Given the description of an element on the screen output the (x, y) to click on. 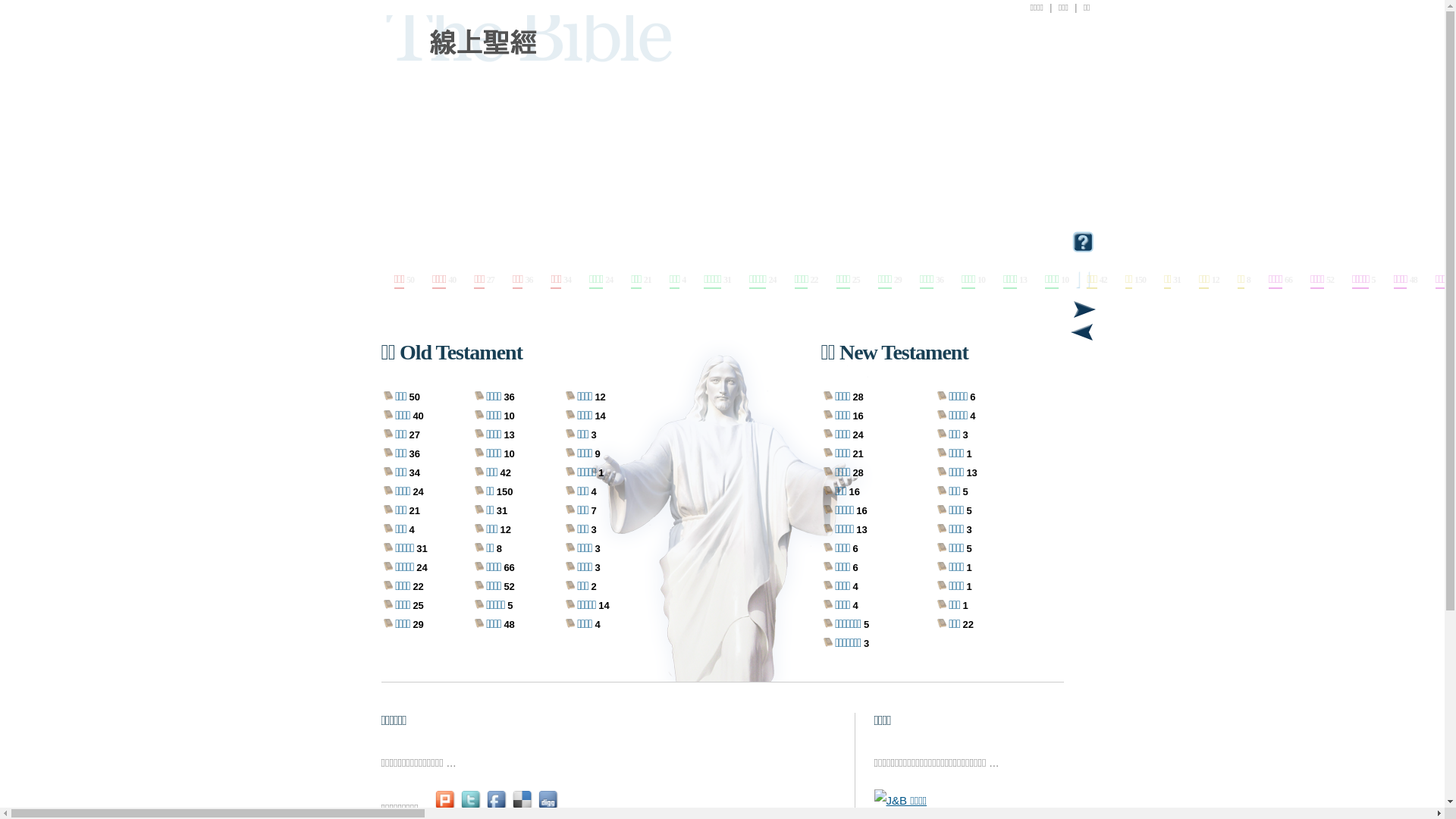
Facebook Element type: hover (497, 807)
del.icio.us Element type: hover (522, 807)
Twitter Element type: hover (471, 807)
Plurk Element type: hover (445, 807)
Digg Element type: hover (548, 807)
